Given the description of an element on the screen output the (x, y) to click on. 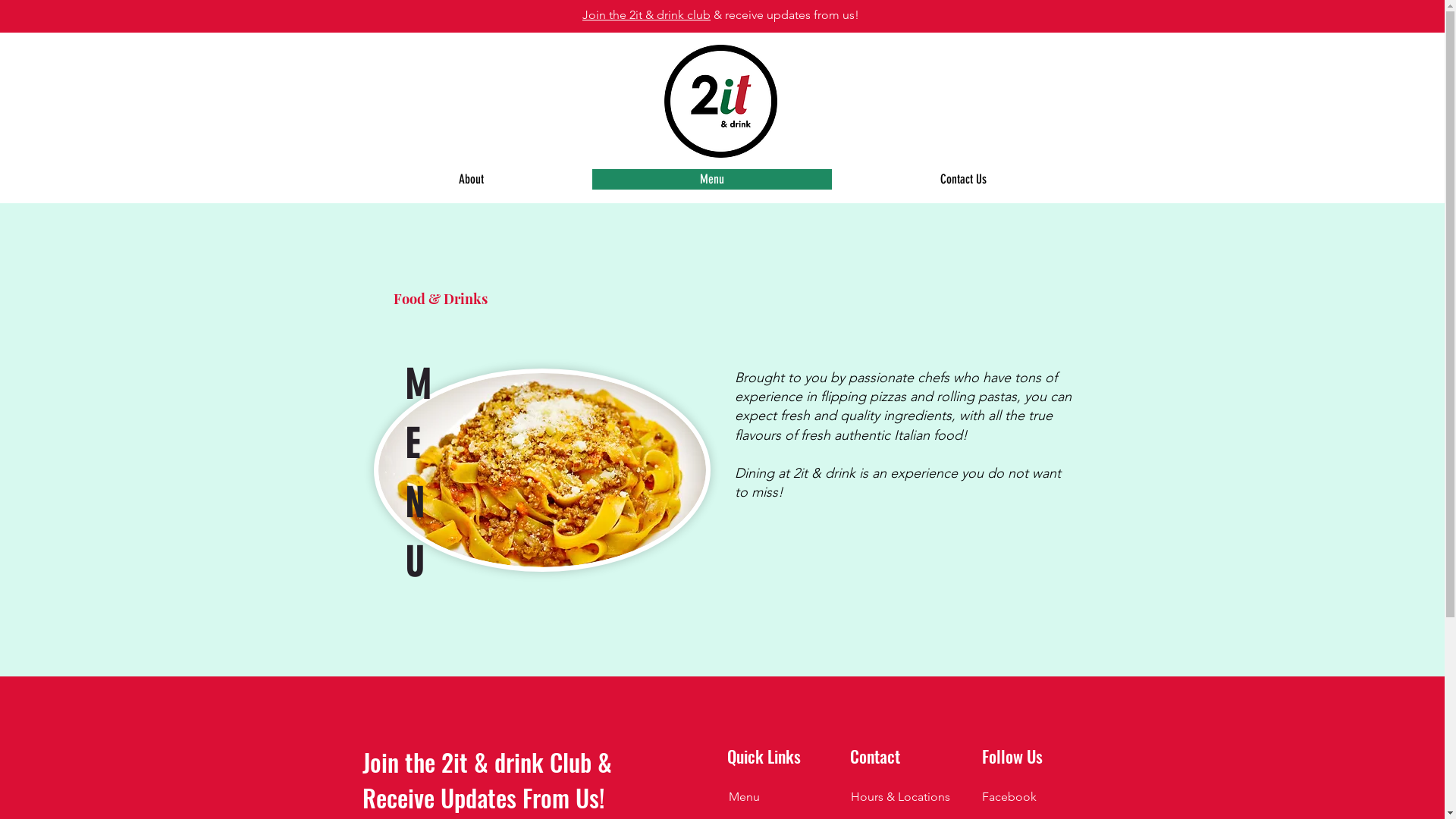
Menu Element type: text (743, 796)
Contact Us Element type: text (962, 179)
About Element type: text (470, 179)
Join the 2it & drink club Element type: text (646, 14)
Menu Element type: text (711, 179)
Facebook Element type: text (1008, 796)
M
E
N
U Element type: text (424, 469)
Hours & Locations Element type: text (900, 796)
